Given the description of an element on the screen output the (x, y) to click on. 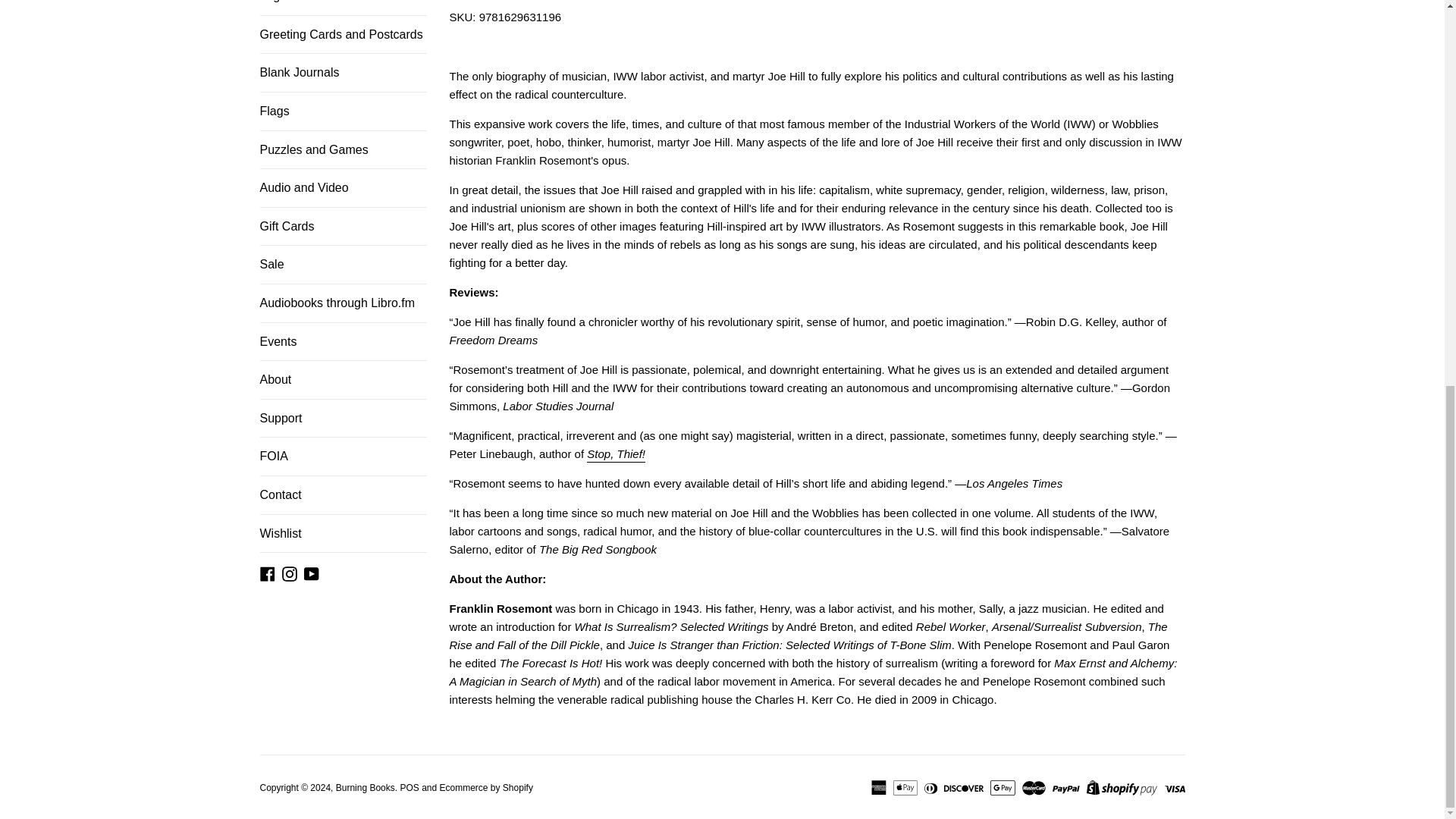
Stop, Thief! (615, 454)
Burning Books on Instagram (289, 572)
Burning Books on YouTube (311, 572)
Burning Books on Facebook (267, 572)
